Given the description of an element on the screen output the (x, y) to click on. 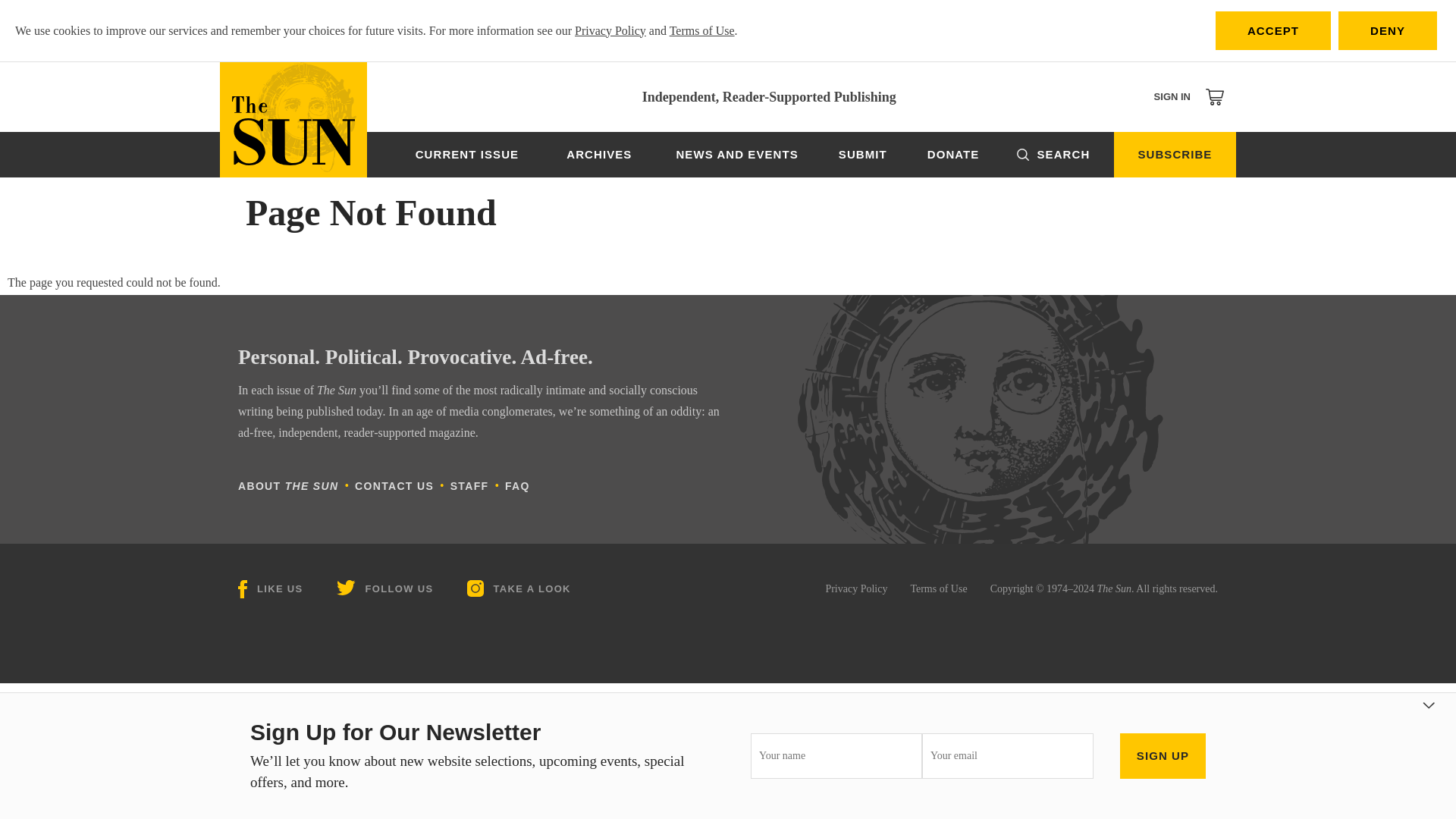
ARCHIVES (599, 154)
Privacy Policy (610, 30)
Terms of Use (702, 30)
CURRENT ISSUE (467, 154)
SIGN IN (1172, 96)
ACCEPT (1272, 30)
DENY (1387, 30)
